Given the description of an element on the screen output the (x, y) to click on. 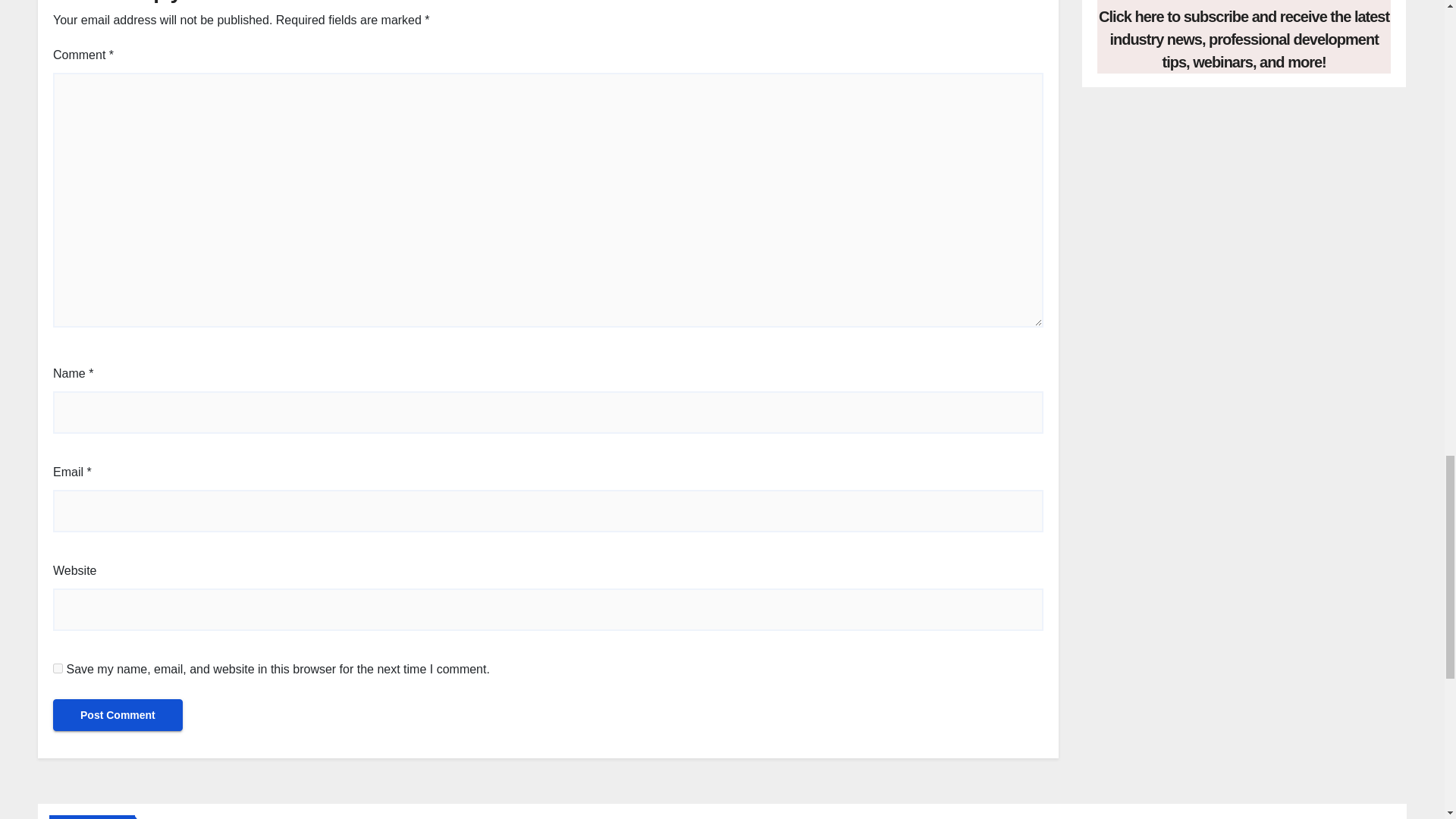
Post Comment (117, 715)
yes (57, 668)
